Given the description of an element on the screen output the (x, y) to click on. 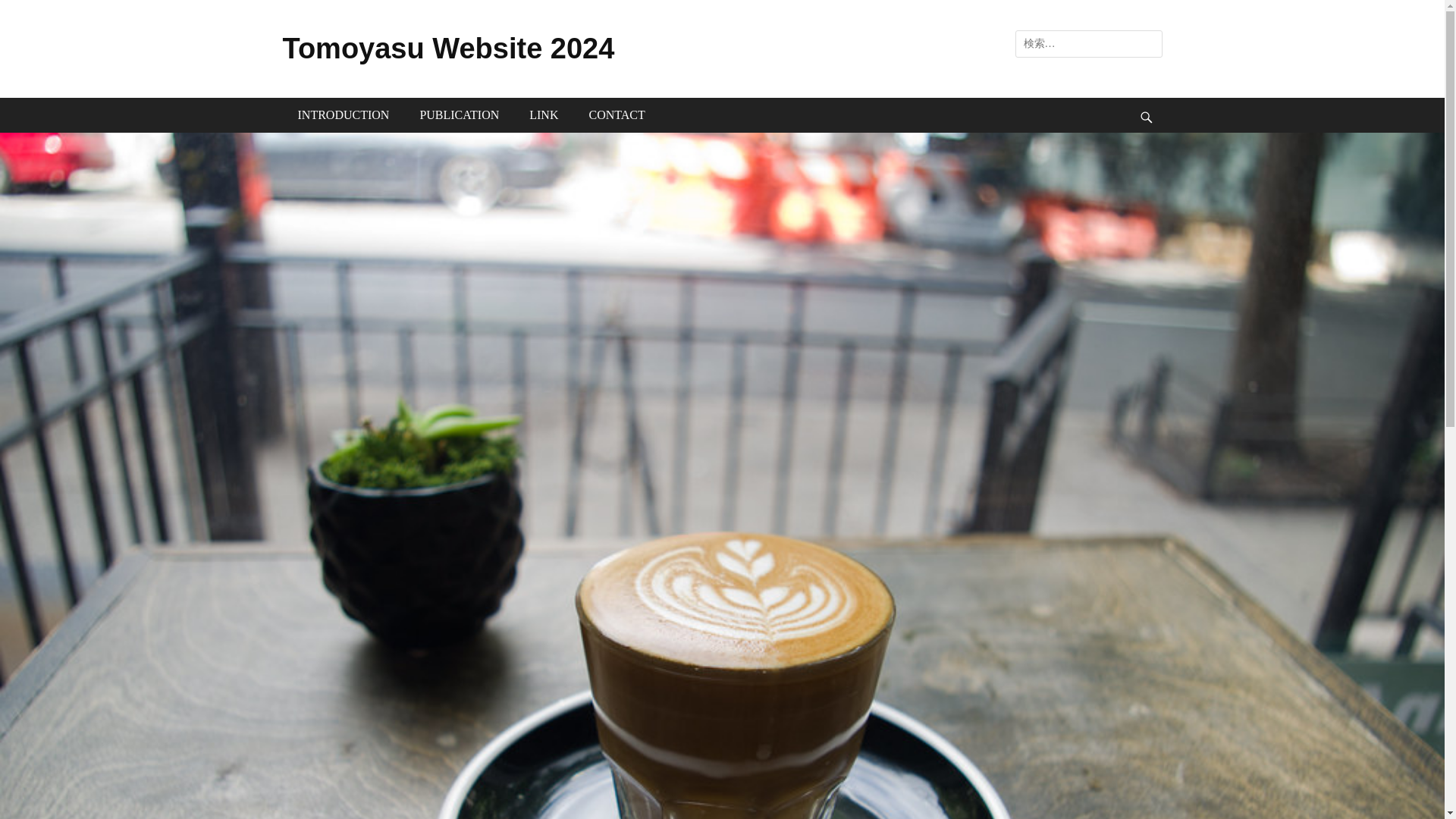
PUBLICATION (458, 114)
LINK (543, 114)
Tomoyasu Website 2024 (448, 48)
CONTACT (616, 114)
INTRODUCTION (343, 114)
